Given the description of an element on the screen output the (x, y) to click on. 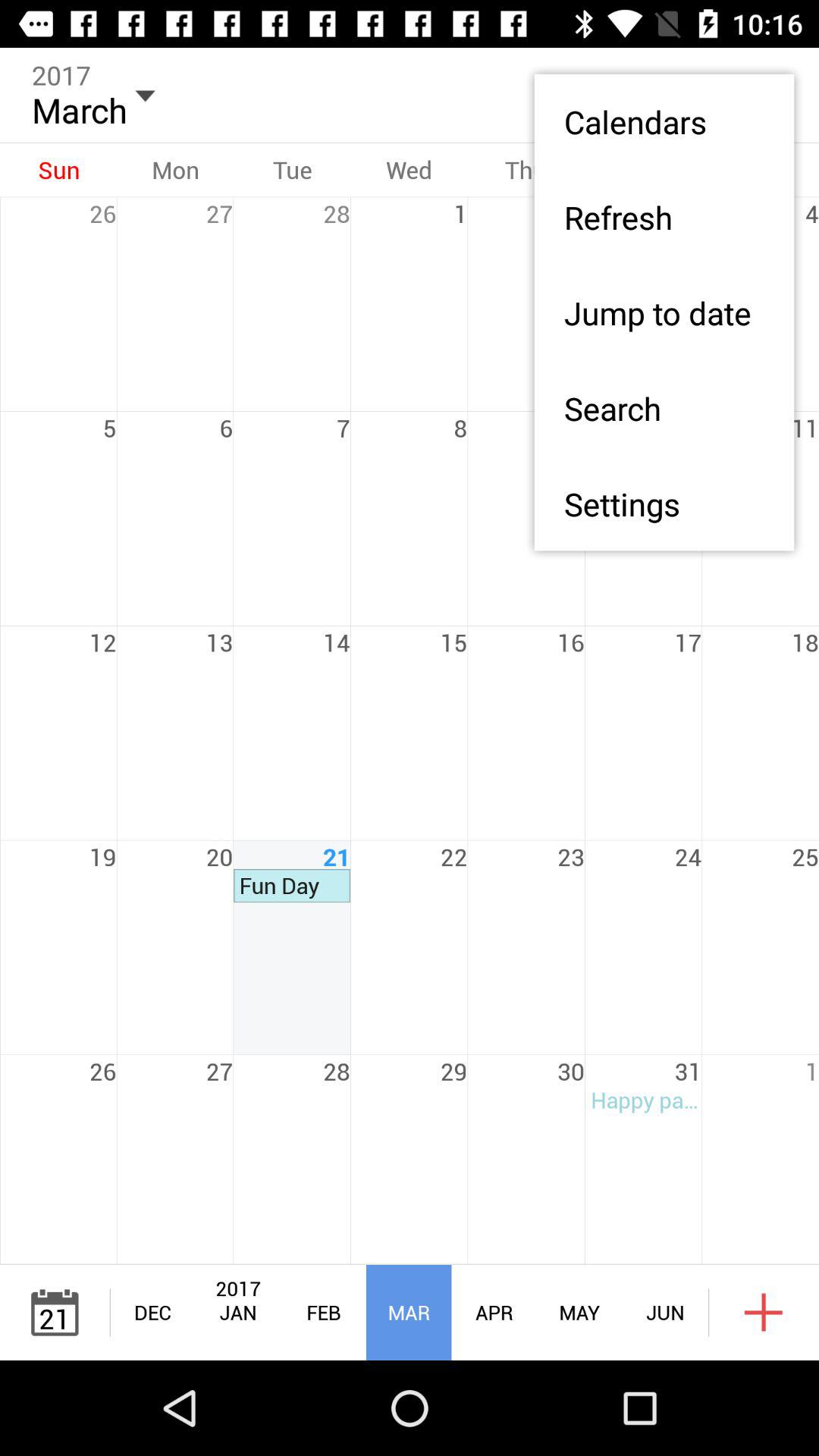
swipe until jump to date item (664, 312)
